Given the description of an element on the screen output the (x, y) to click on. 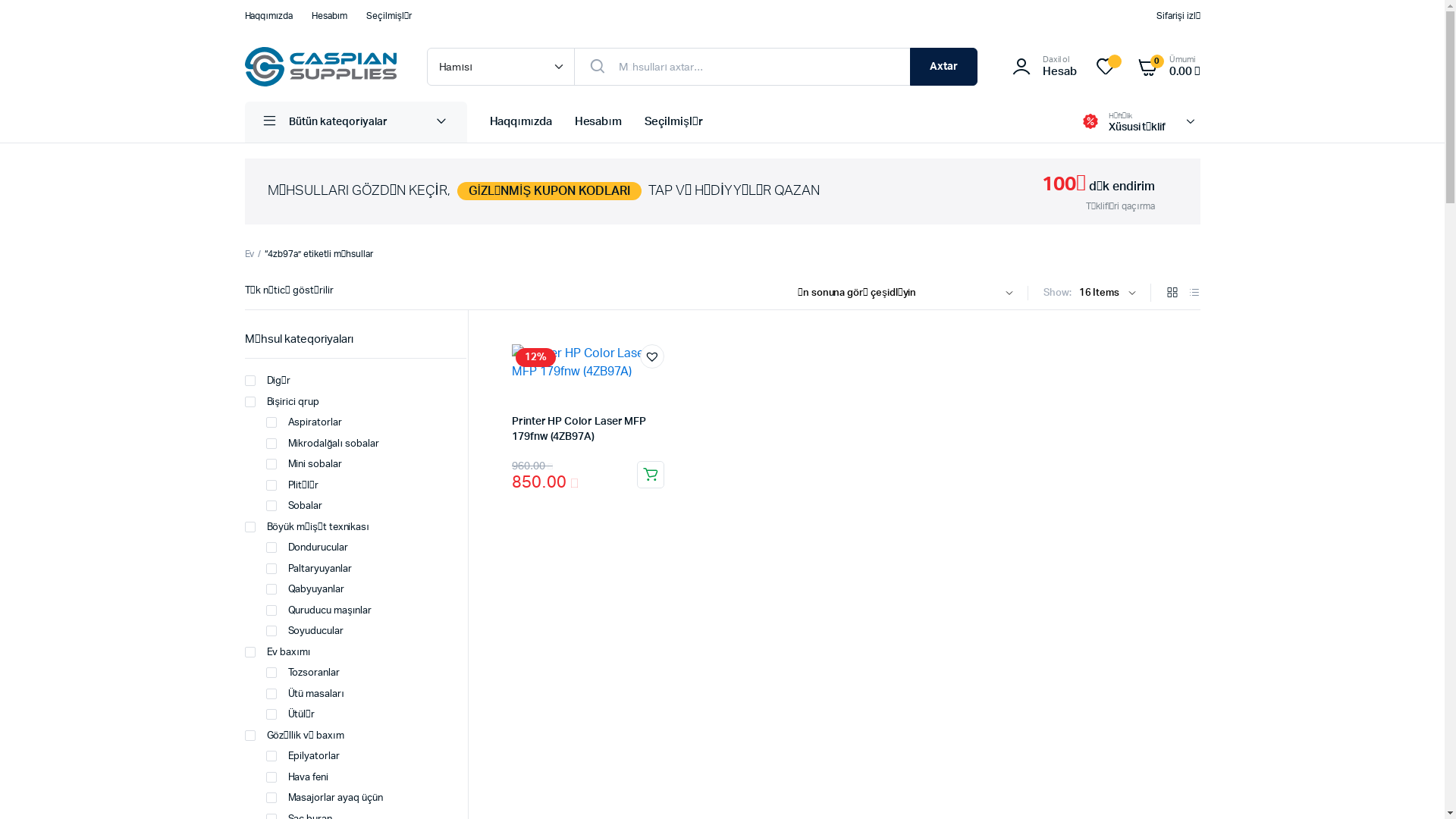
Qabyuyanlar Element type: text (304, 589)
Paltaryuyanlar Element type: text (308, 569)
Aspiratorlar Element type: text (303, 422)
Grid Products Element type: hover (1172, 293)
Hava feni Element type: text (296, 777)
Dondurucular Element type: text (306, 547)
Soyuducular Element type: text (304, 631)
List Products Element type: hover (1194, 293)
Mini sobalar Element type: text (303, 464)
Printer HP Color Laser MFP 179fnw (4ZB97A) Element type: text (578, 429)
Sobalar Element type: text (293, 506)
Tozsoranlar Element type: text (302, 672)
Caspian Supplies Element type: hover (319, 66)
Daxil ol
Hesab Element type: text (1041, 66)
Axtar Element type: text (943, 66)
Epilyatorlar Element type: text (302, 756)
Ev Element type: text (249, 253)
